Given the description of an element on the screen output the (x, y) to click on. 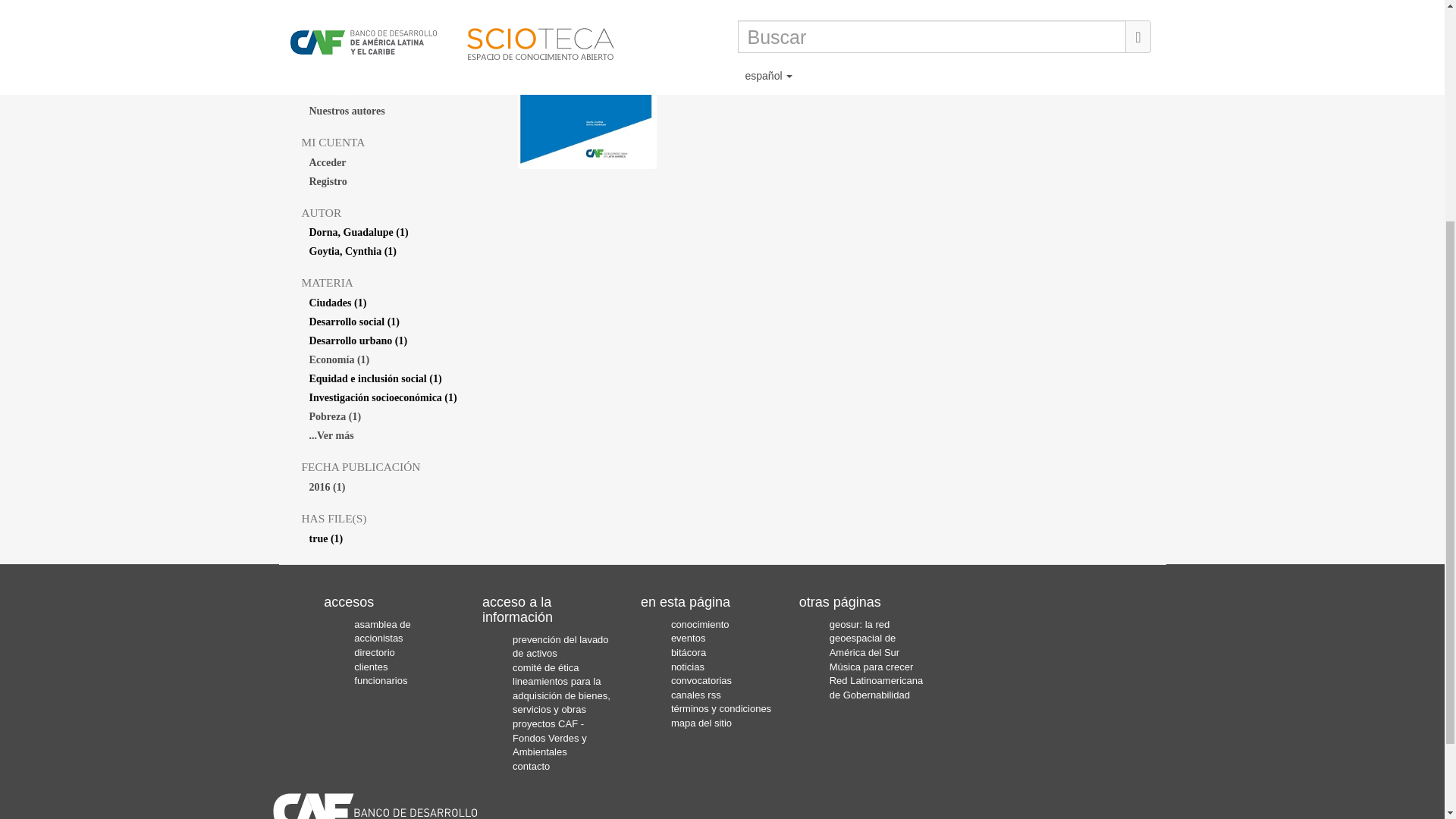
Materias (398, 40)
Autores (398, 6)
Acceder (398, 162)
Nuestros autores (398, 111)
Registro (398, 181)
